Given the description of an element on the screen output the (x, y) to click on. 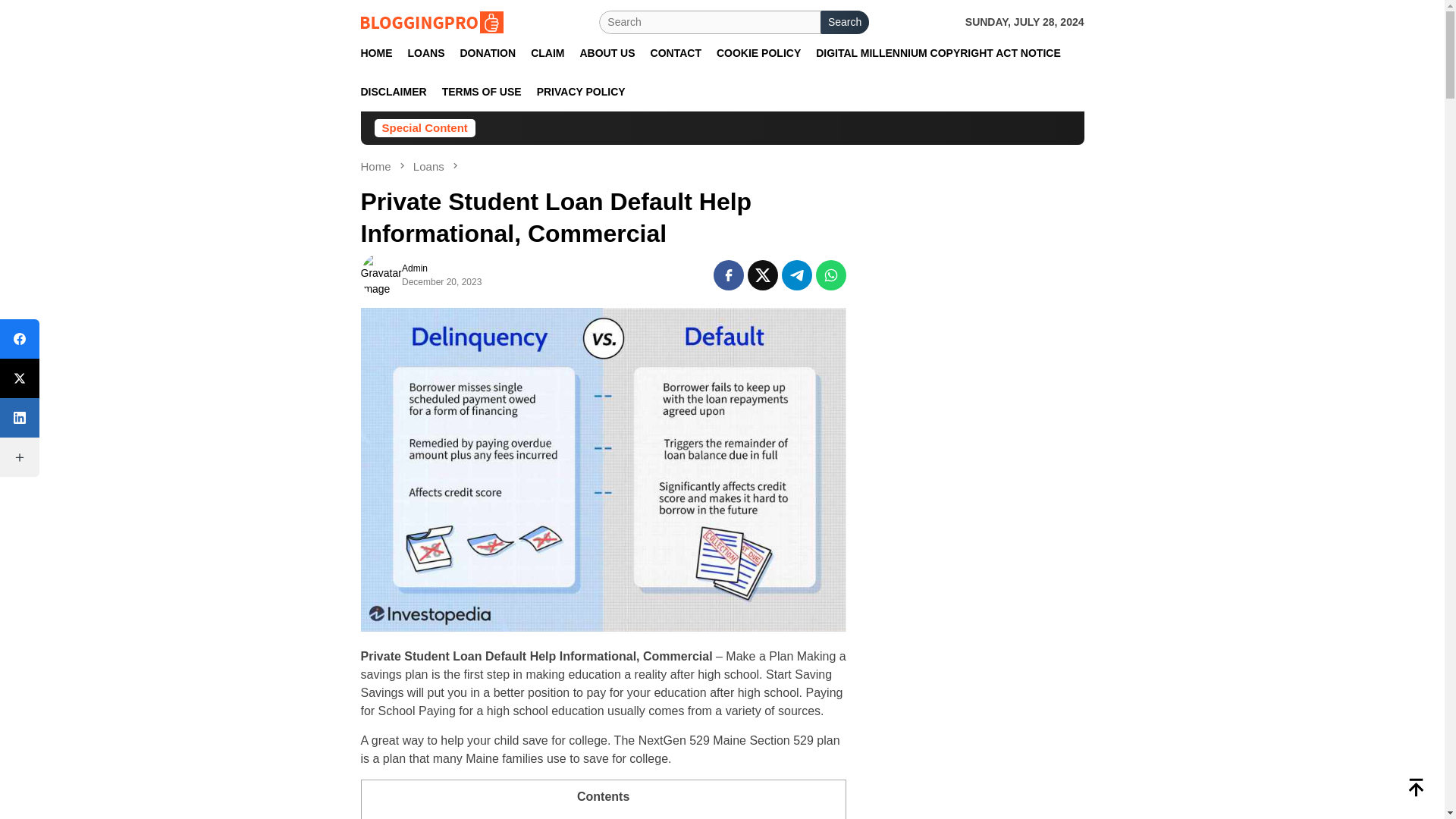
WhatsApp this (830, 275)
Share this (728, 275)
DONATION (486, 53)
Permalink to: admin (381, 274)
TERMS OF USE (481, 91)
LOANS (426, 53)
HOME (376, 53)
CONTACT (676, 53)
Telegram Share (796, 275)
PRIVACY POLICY (581, 91)
Gravatar (381, 275)
COOKIE POLICY (758, 53)
DISCLAIMER (393, 91)
ABOUT US (607, 53)
Home (377, 165)
